Given the description of an element on the screen output the (x, y) to click on. 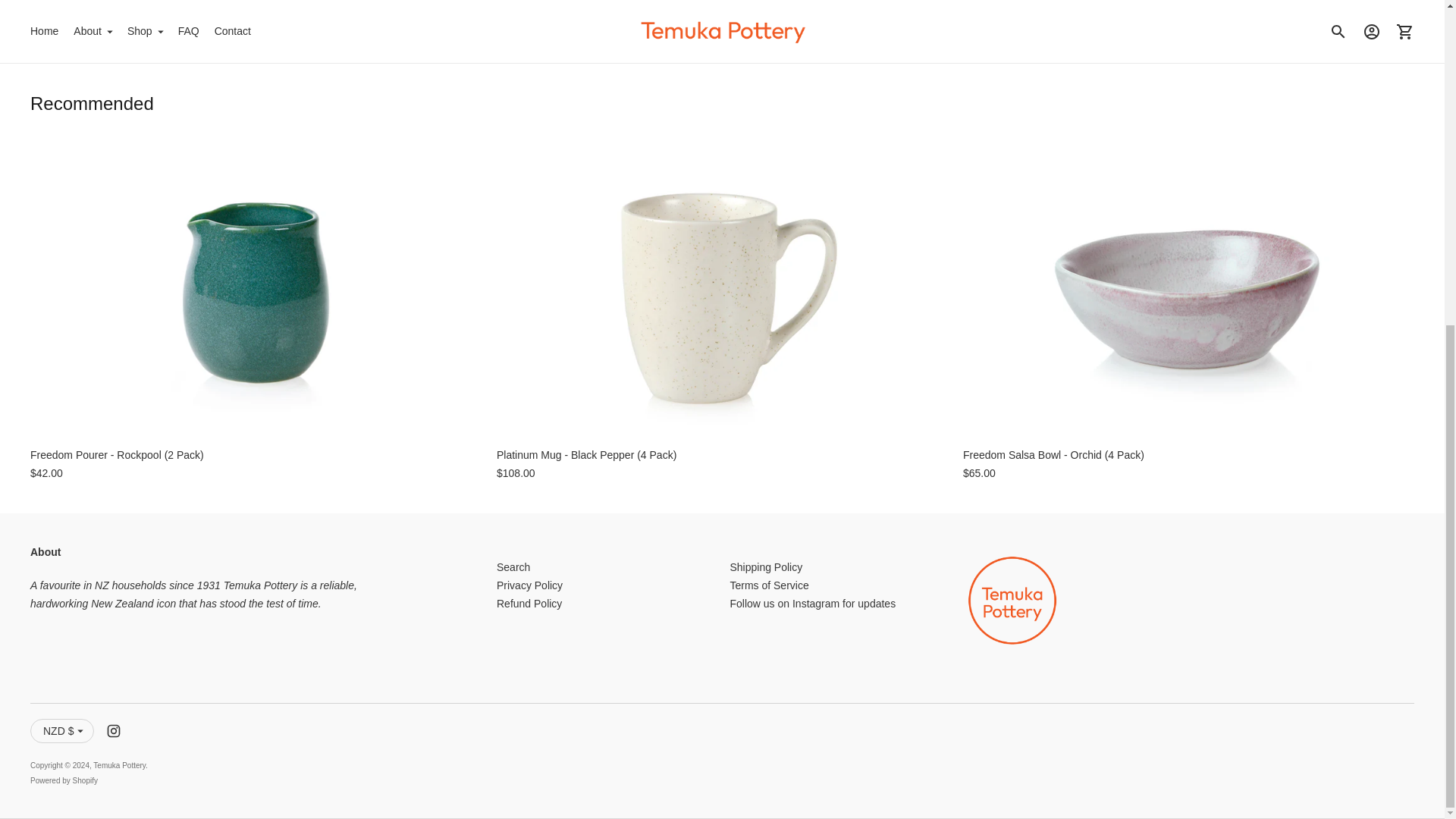
Temuka Pottery on Instagram (113, 730)
